Given the description of an element on the screen output the (x, y) to click on. 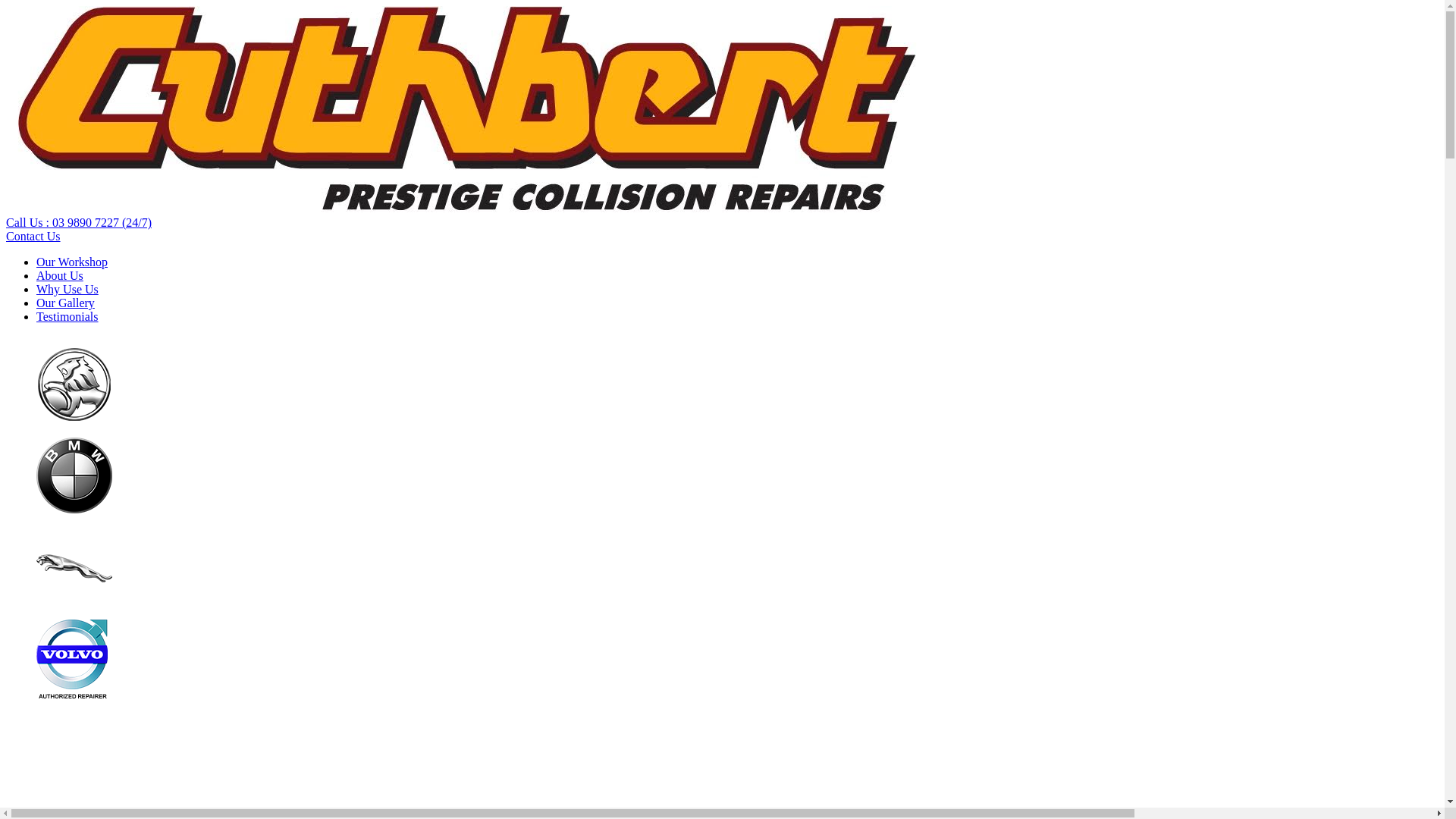
About Us Element type: text (59, 275)
Testimonials Element type: text (67, 316)
Our Gallery Element type: text (65, 302)
Cuthbert Automotive Element type: hover (462, 208)
Call Us : 03 9890 7227 (24/7) Element type: text (78, 222)
Our Workshop Element type: text (71, 261)
Contact Us Element type: text (33, 235)
Why Use Us Element type: text (67, 288)
